Given the description of an element on the screen output the (x, y) to click on. 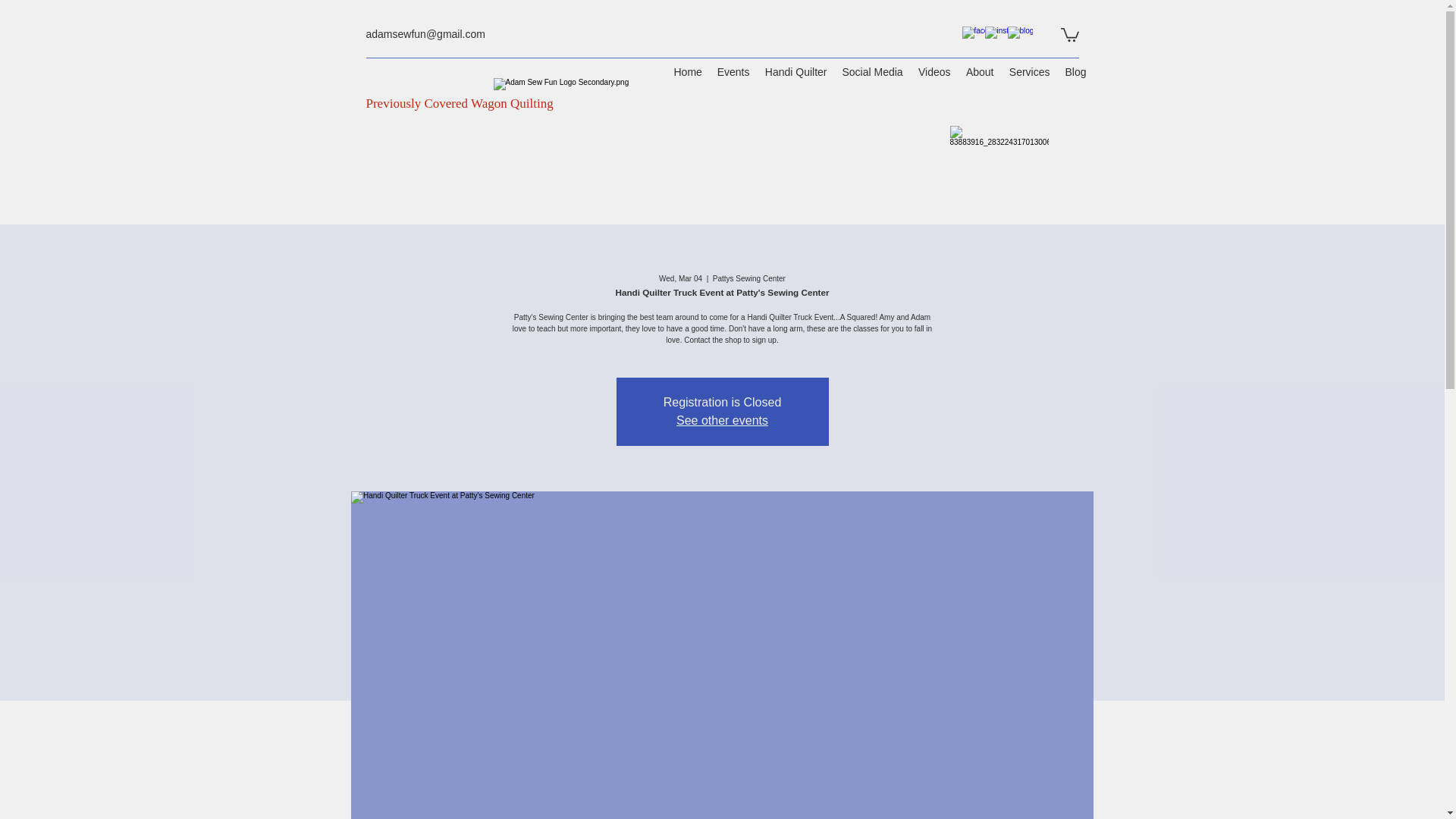
Handi Quilter (795, 72)
About (979, 72)
Videos (934, 72)
Home (687, 72)
Events (733, 72)
Blog (1075, 72)
Social Media (872, 72)
Services (1029, 72)
See other events (722, 420)
